Given the description of an element on the screen output the (x, y) to click on. 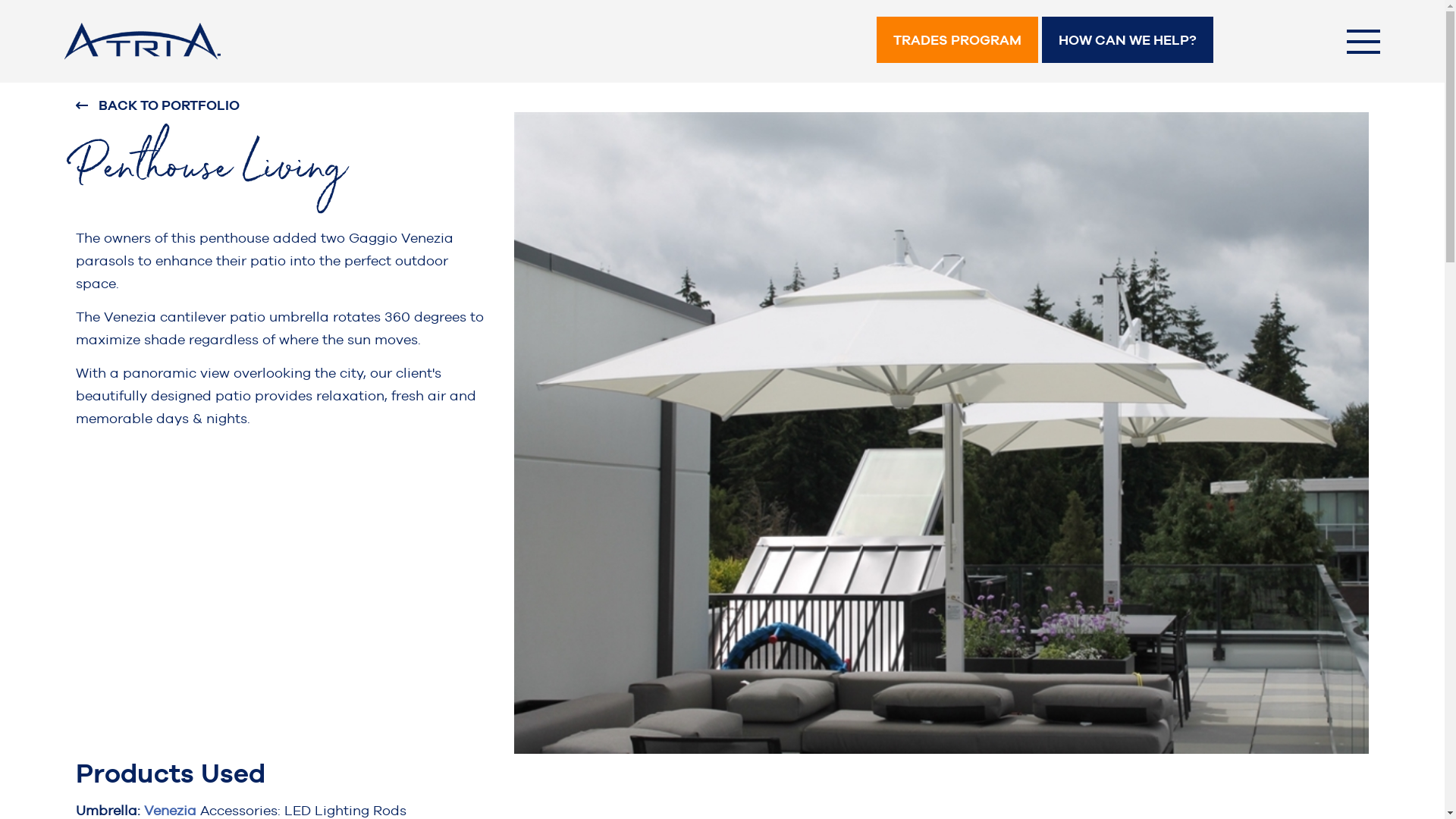
Open Element type: hover (1363, 38)
Atria Holistic Outdoor Design Element type: hover (220, 40)
BACK TO PORTFOLIO Element type: text (283, 104)
Two white umbrellas shade a rooftop patio Element type: hover (941, 432)
HOW CAN WE HELP? Element type: text (1127, 39)
Venezia Element type: text (172, 810)
TRADES PROGRAM Element type: text (957, 39)
Umbrella: Element type: text (109, 810)
